Given the description of an element on the screen output the (x, y) to click on. 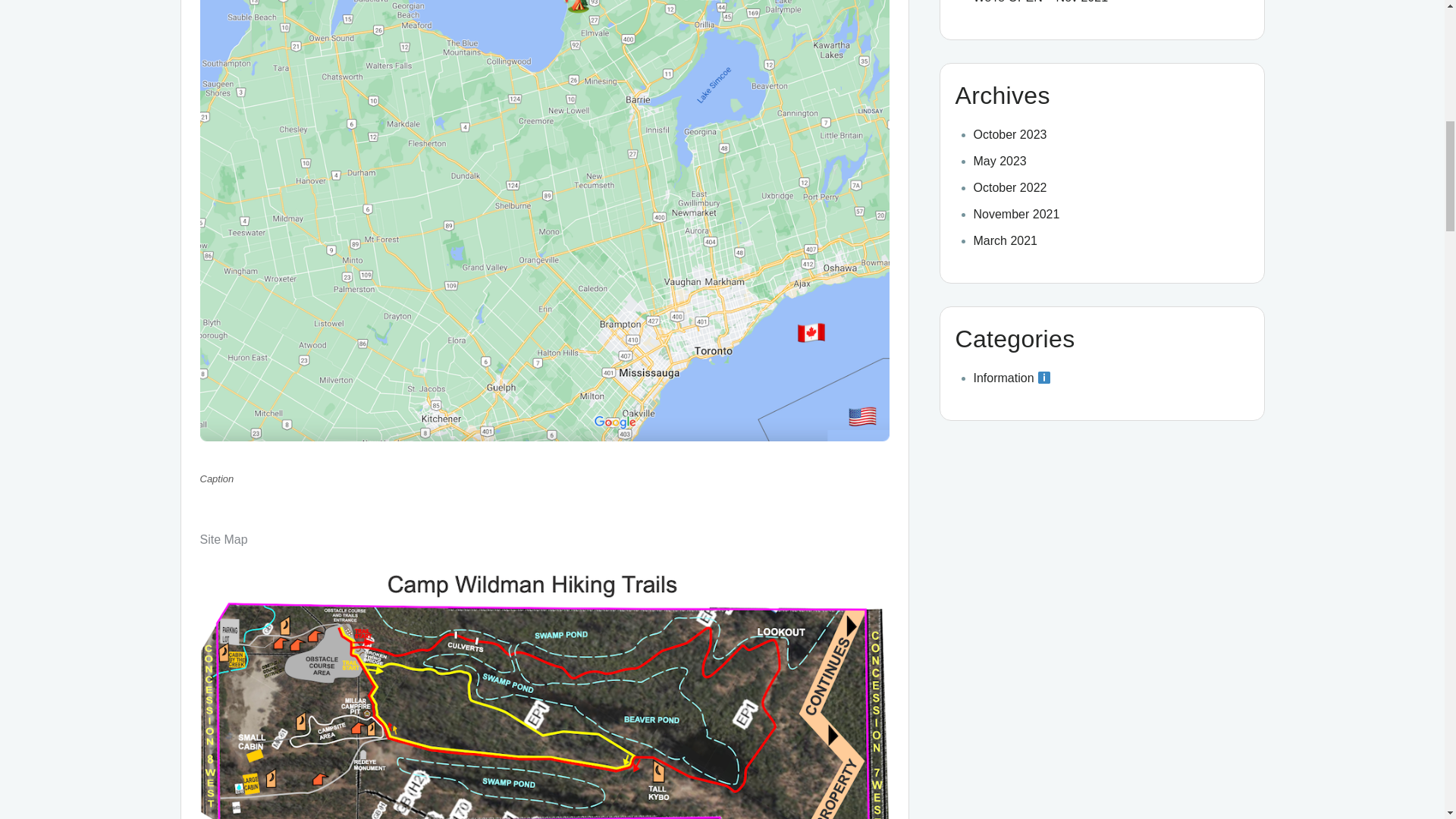
November 2021 (1016, 214)
May 2023 (1000, 160)
October 2022 (1010, 187)
October 2023 (1010, 133)
